Given the description of an element on the screen output the (x, y) to click on. 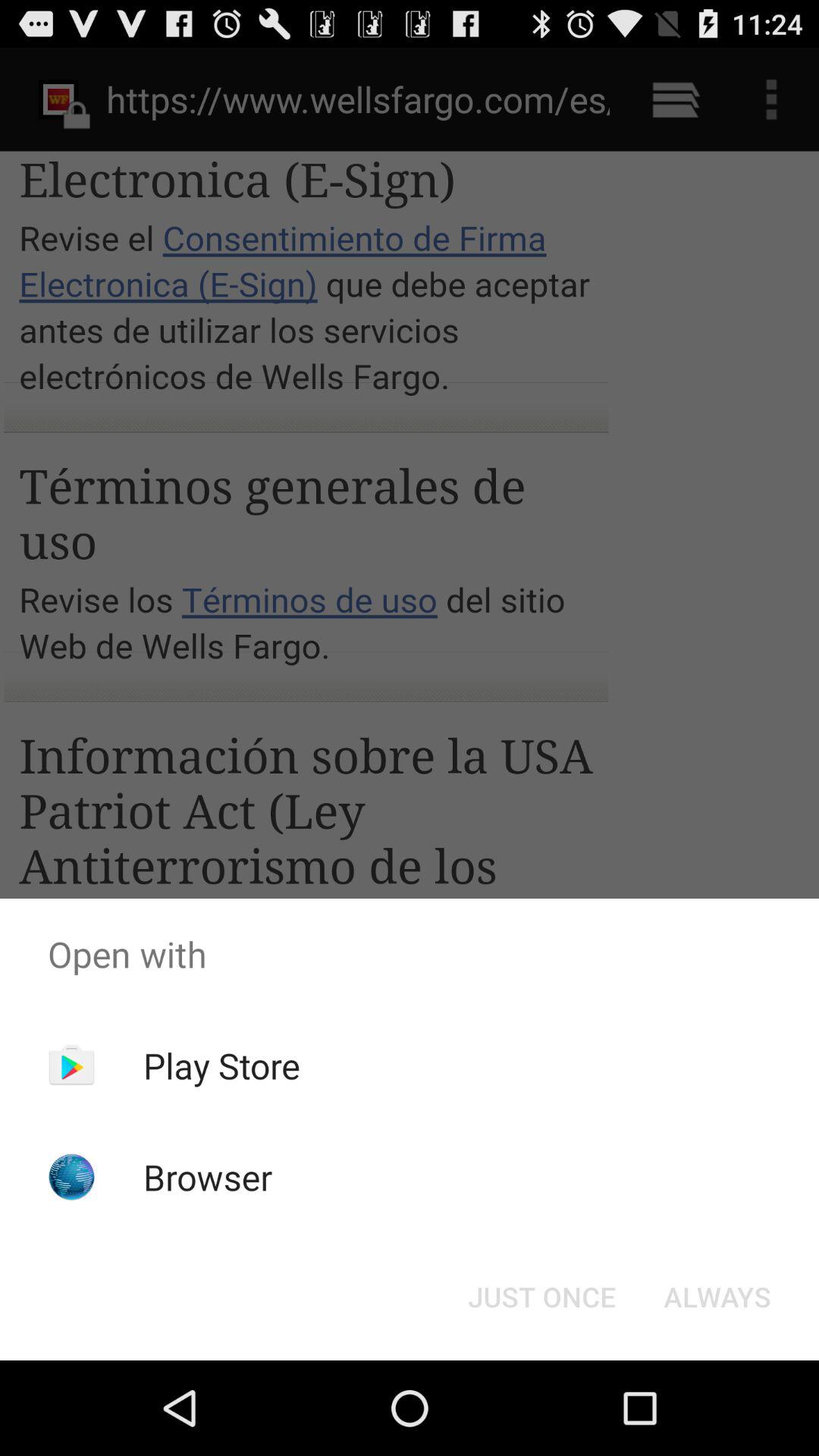
turn off the app below the open with app (221, 1065)
